Given the description of an element on the screen output the (x, y) to click on. 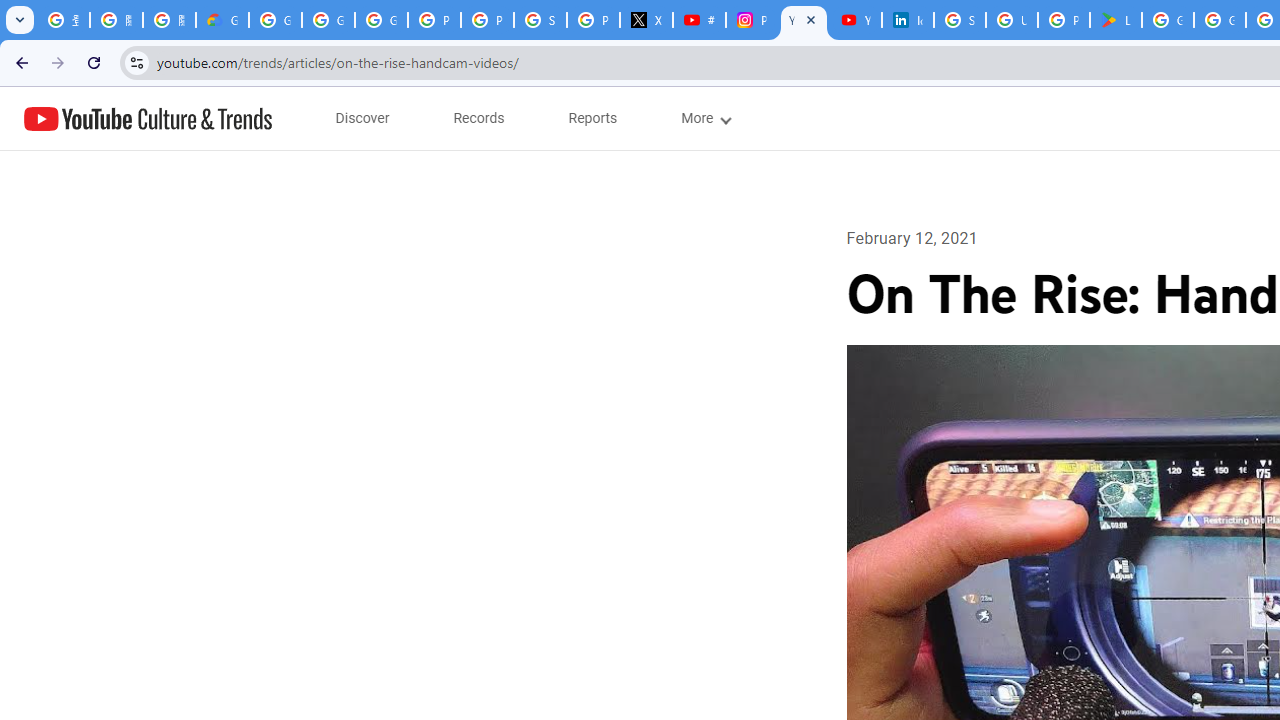
Last Shelter: Survival - Apps on Google Play (1115, 20)
Sign in - Google Accounts (540, 20)
YouTube Culture & Trends (147, 118)
YouTube Culture & Trends - On The Rise: Handcam Videos (803, 20)
subnav-Records menupopup (479, 118)
subnav-Discover menupopup (362, 118)
